Given the description of an element on the screen output the (x, y) to click on. 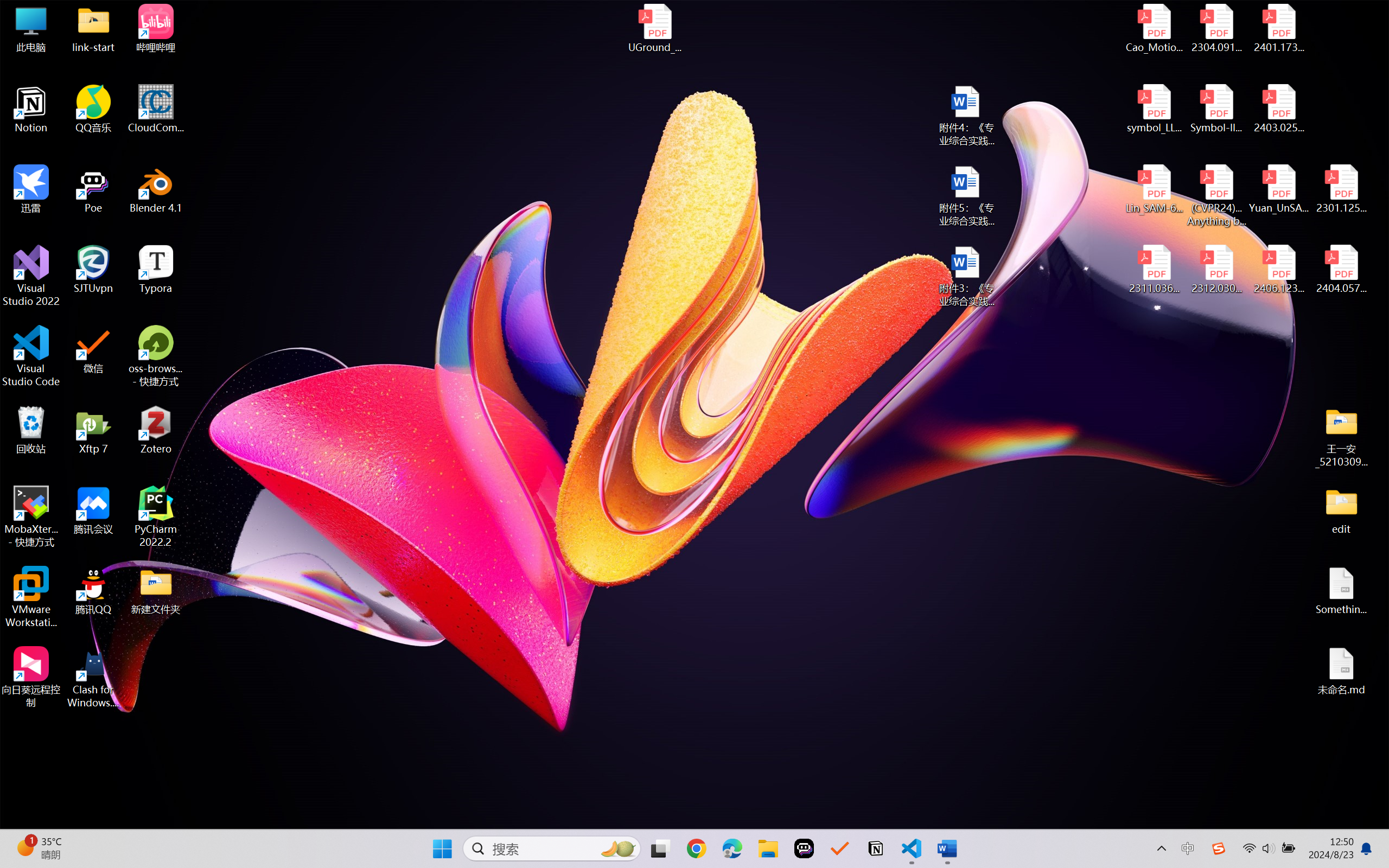
Typora (156, 269)
Visual Studio Code (31, 355)
Visual Studio 2022 (31, 276)
2401.17399v1.pdf (1278, 28)
2301.12597v3.pdf (1340, 189)
